Given the description of an element on the screen output the (x, y) to click on. 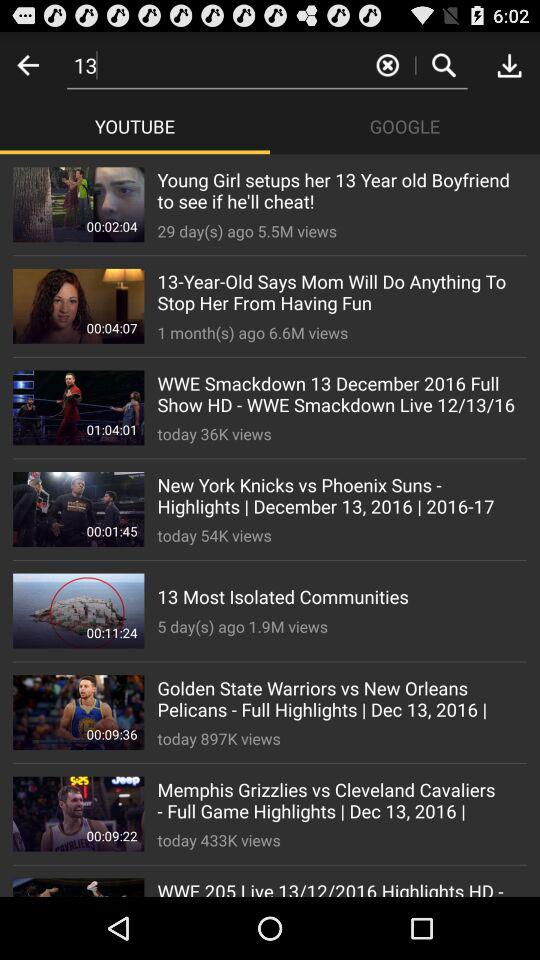
click on the fifth image from the top of the page (78, 610)
